Given the description of an element on the screen output the (x, y) to click on. 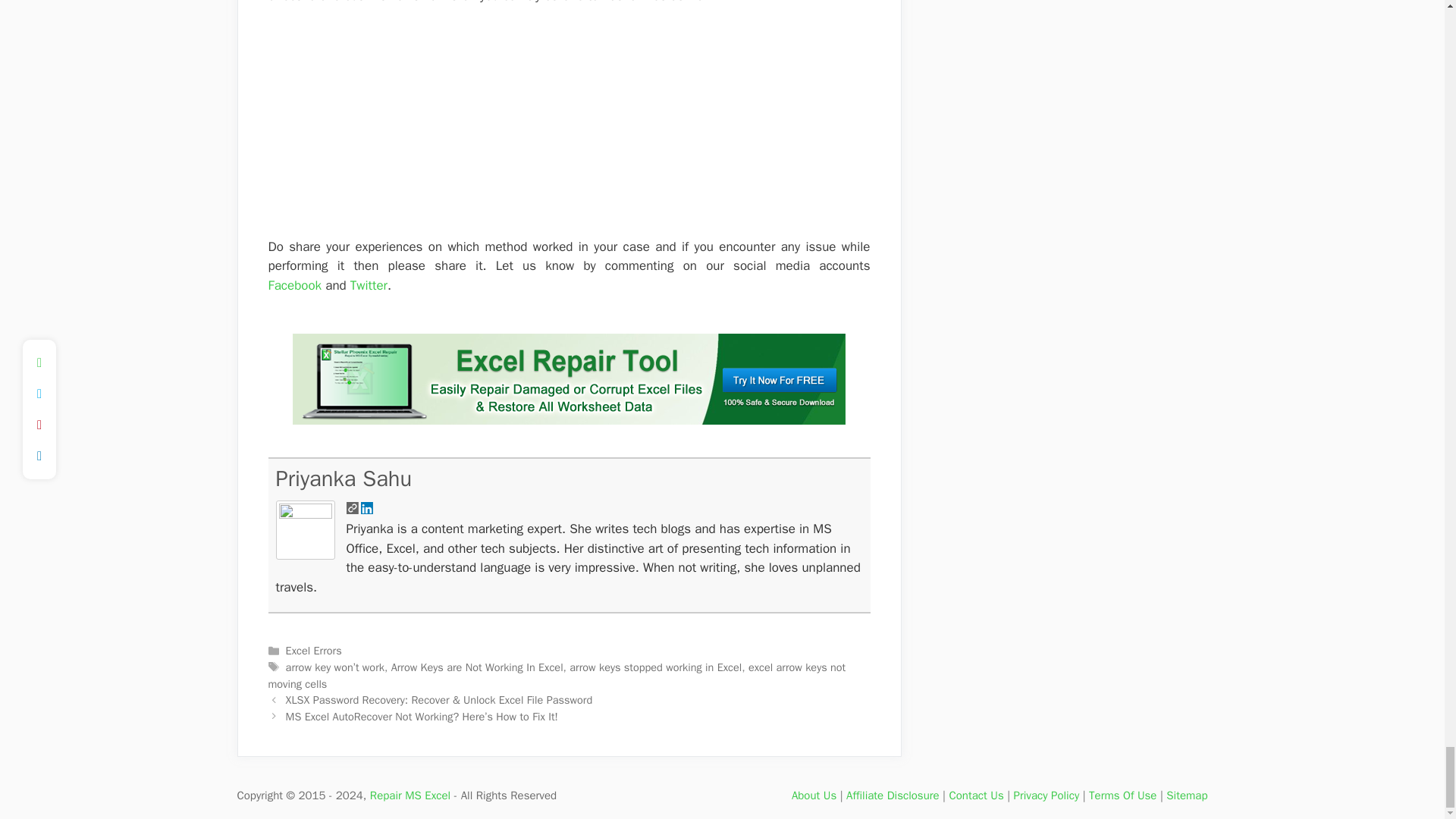
Facebook (294, 285)
All posts by Priyanka Sahu (344, 479)
Excel Errors (313, 650)
Twitter (368, 285)
Try Excel Repair Now (568, 420)
Priyanka Sahu (344, 479)
